Given the description of an element on the screen output the (x, y) to click on. 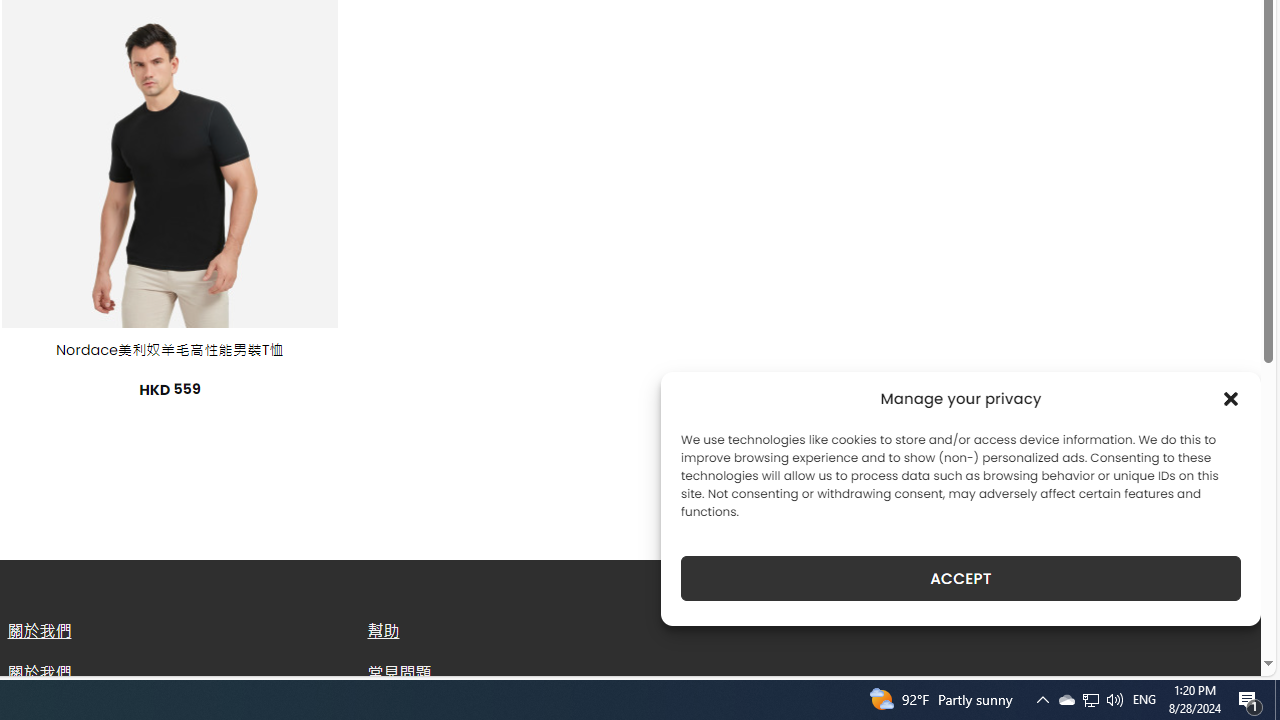
Class: cmplz-close (1231, 398)
ACCEPT (960, 578)
Go to top (1220, 647)
